Given the description of an element on the screen output the (x, y) to click on. 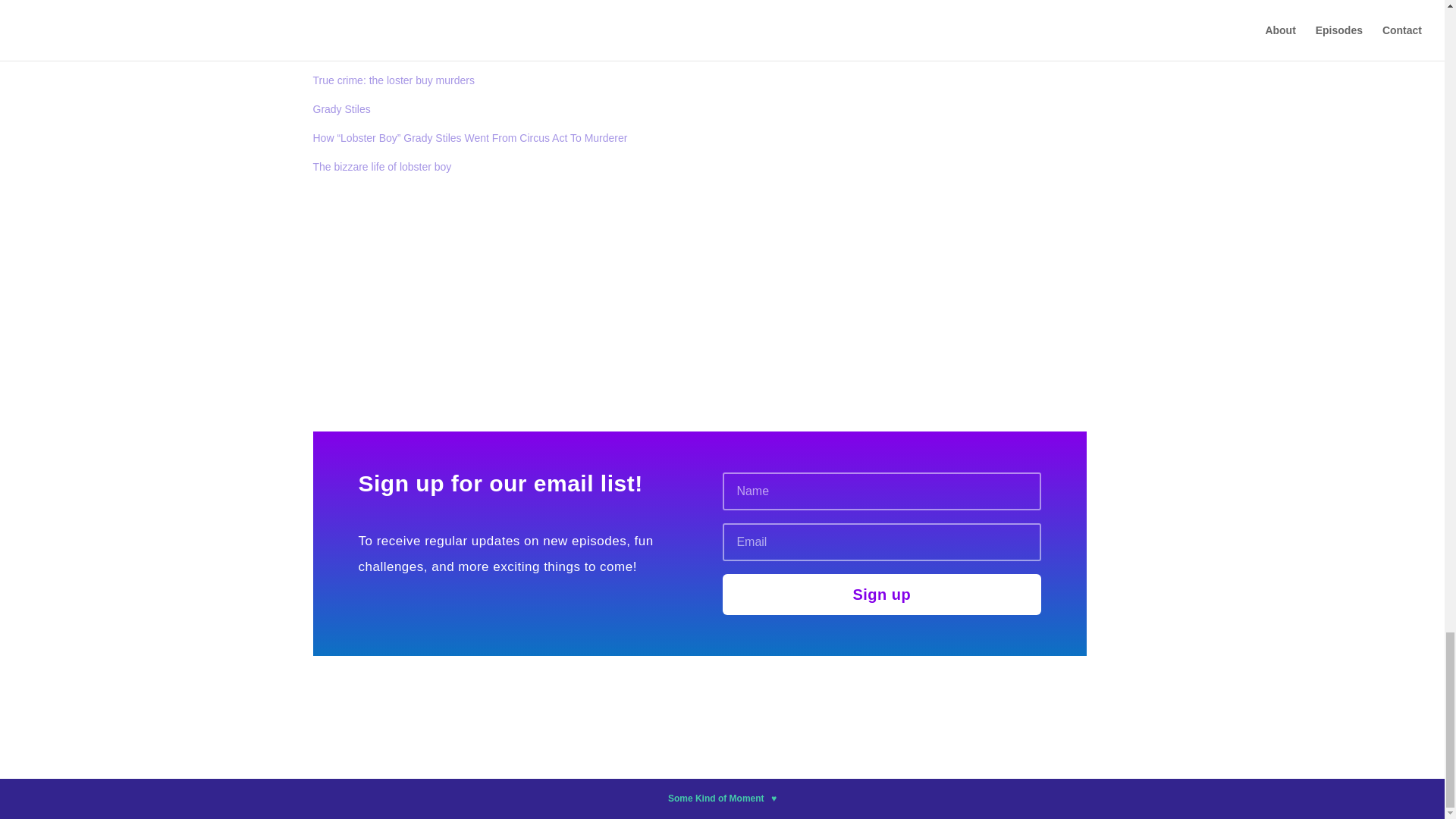
The bizzare life of lobster boy (382, 166)
True crime: the loster buy murders (393, 80)
Sign up (882, 594)
Grady Stiles (341, 109)
